Given the description of an element on the screen output the (x, y) to click on. 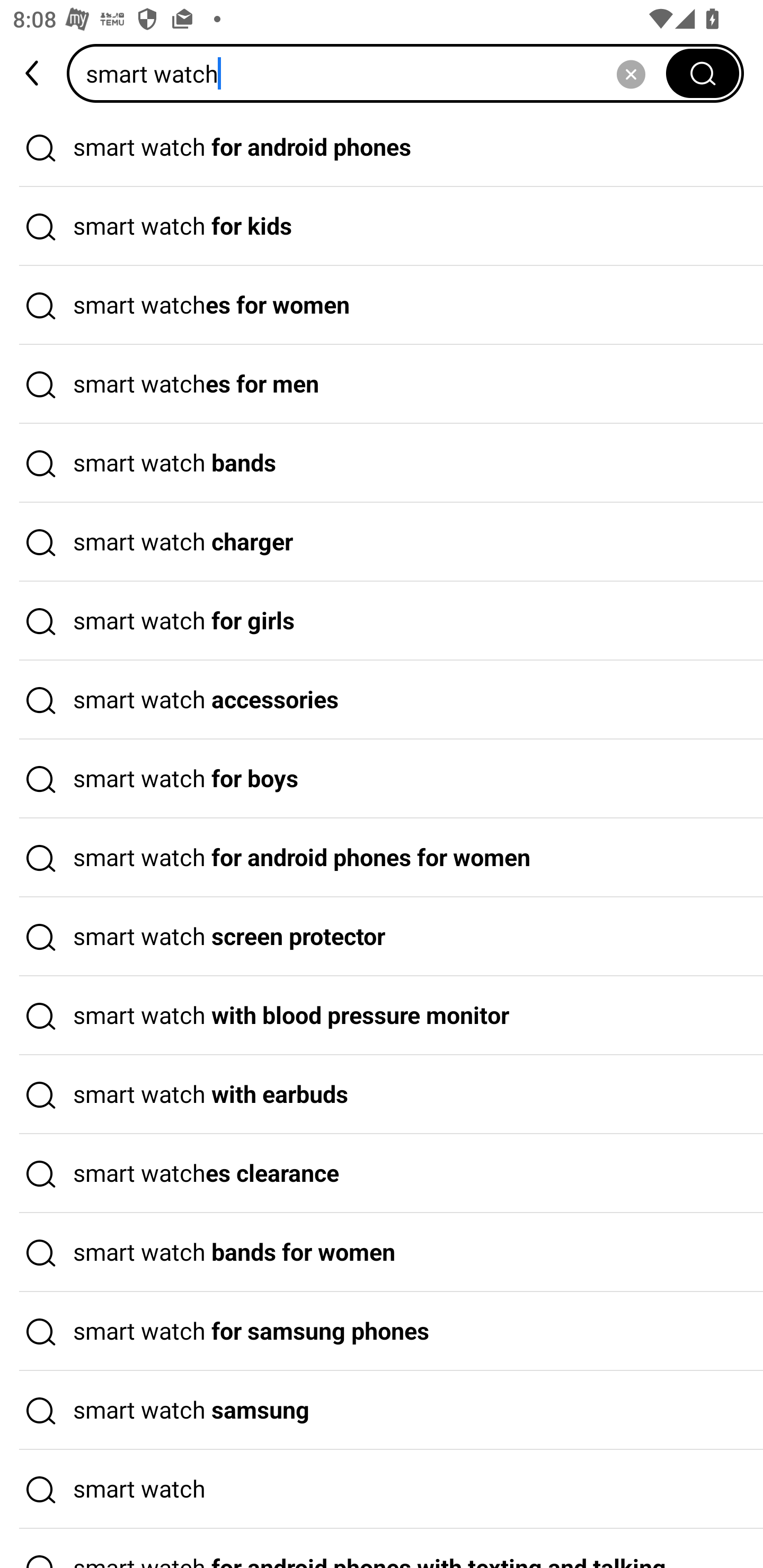
back (33, 72)
smart watch (372, 73)
Delete search history (630, 73)
smart watch for android phones (381, 147)
smart watch for kids (381, 226)
smart watches for women (381, 305)
smart watches for men (381, 383)
smart watch bands (381, 463)
smart watch charger (381, 542)
smart watch for girls (381, 620)
smart watch accessories (381, 700)
smart watch for boys (381, 779)
smart watch for android phones for women (381, 857)
smart watch screen protector (381, 936)
smart watch with blood pressure monitor (381, 1015)
smart watch with earbuds (381, 1094)
smart watches clearance (381, 1173)
smart watch bands for women (381, 1252)
smart watch for samsung phones (381, 1331)
smart watch samsung (381, 1410)
smart watch (381, 1489)
